Given the description of an element on the screen output the (x, y) to click on. 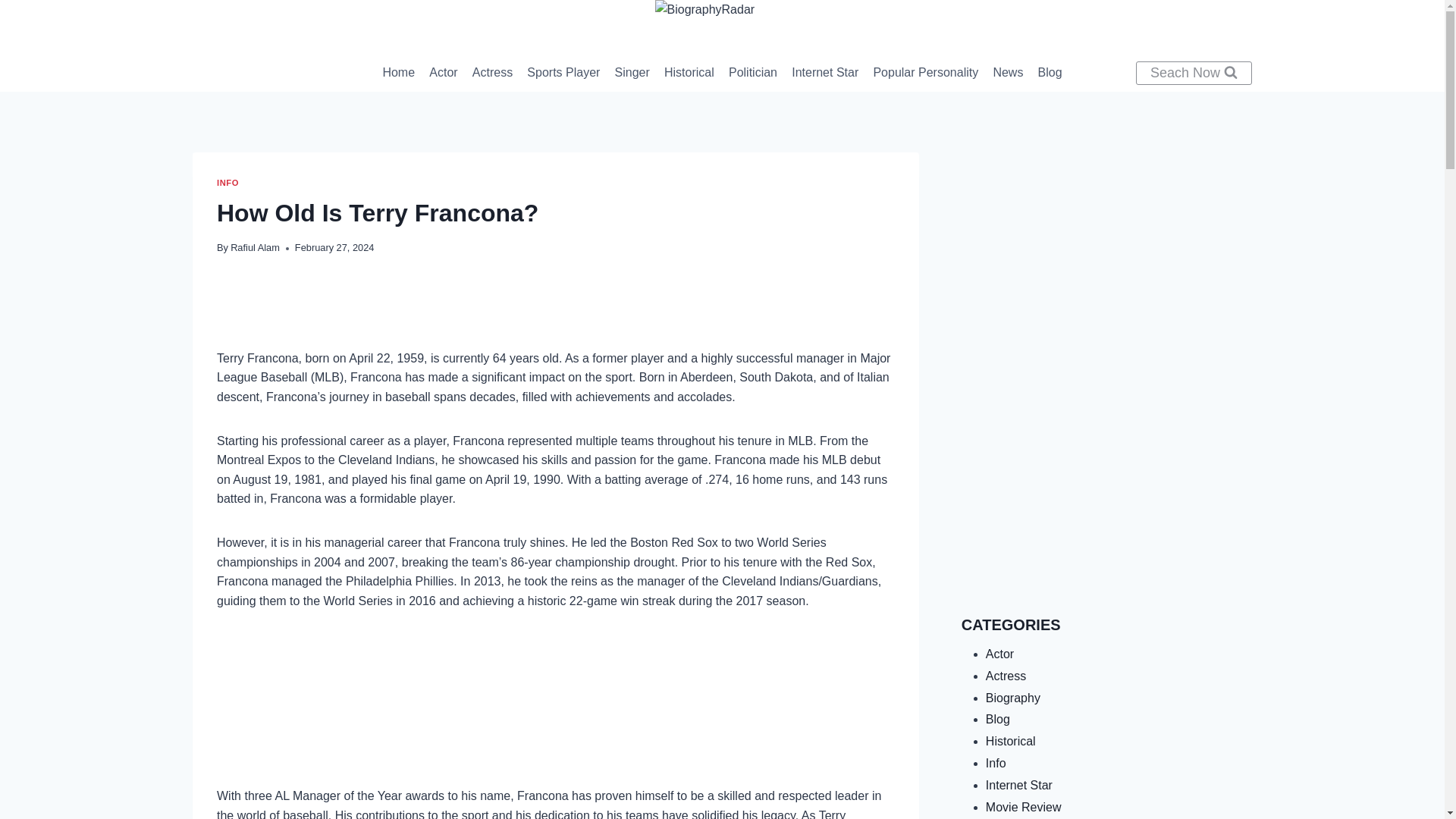
Politician (752, 72)
Home (398, 72)
Singer (631, 72)
Sports Player (563, 72)
Advertisement (555, 710)
Popular Personality (925, 72)
Historical (688, 72)
Advertisement (1106, 489)
Actress (491, 72)
News (1007, 72)
Advertisement (1106, 258)
Actor (443, 72)
INFO (227, 182)
Rafiul Alam (254, 247)
Internet Star (825, 72)
